Given the description of an element on the screen output the (x, y) to click on. 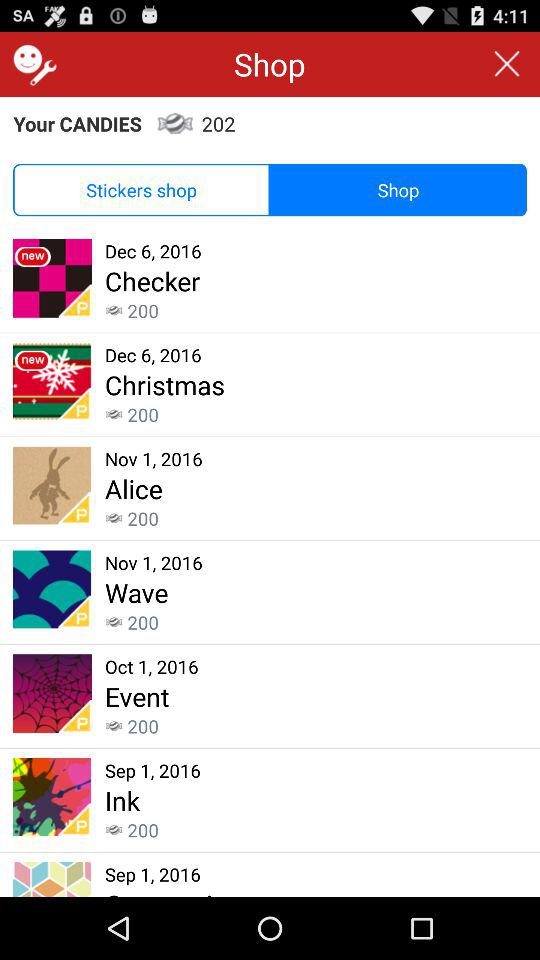
open item next to shop app (32, 64)
